Given the description of an element on the screen output the (x, y) to click on. 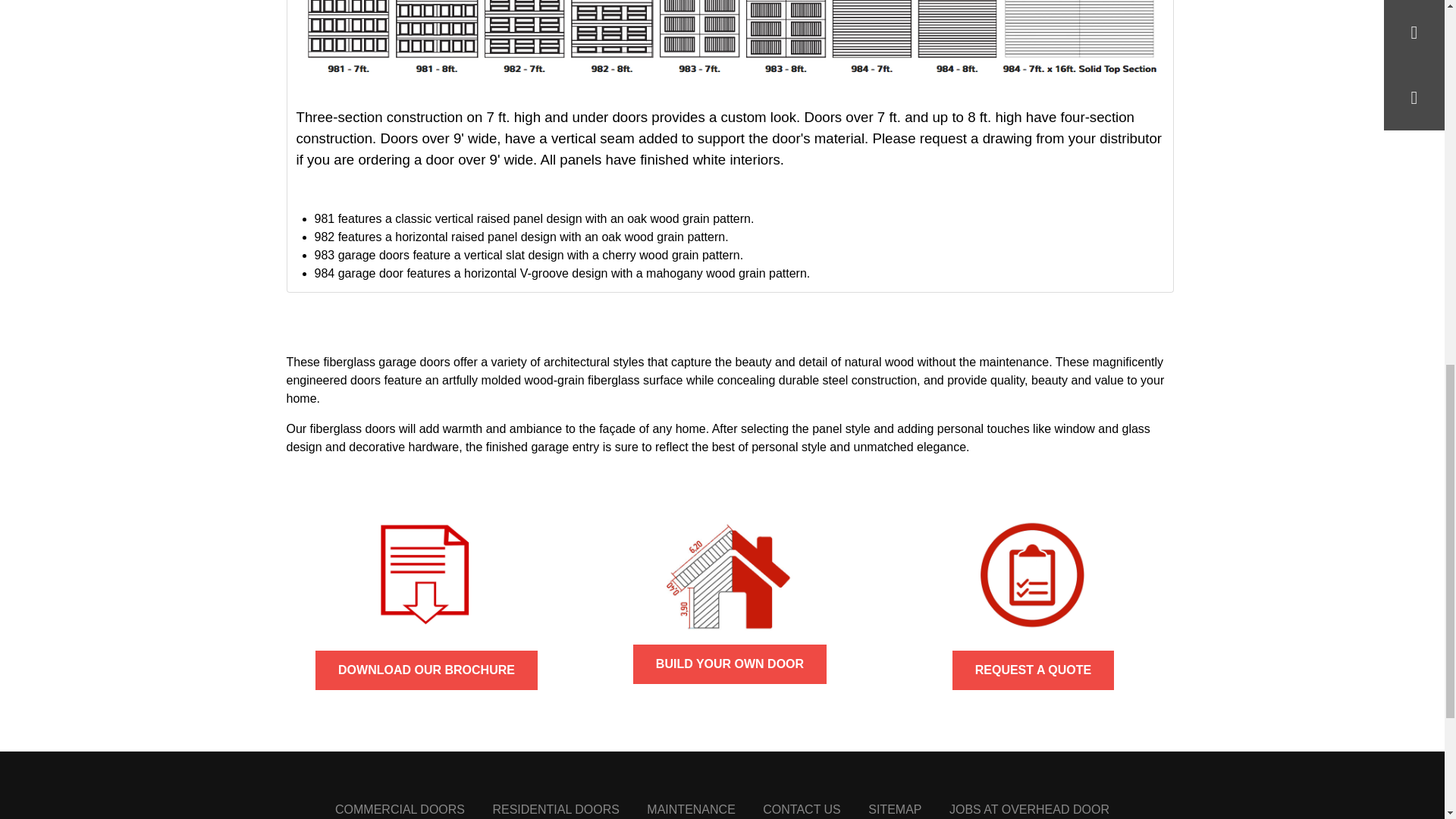
Sitemap (894, 809)
Commercial Doors (399, 809)
Residential Doors (555, 809)
Jobs at Overhead Door (1029, 809)
Contact Us (801, 809)
Maintenance  (690, 809)
